Given the description of an element on the screen output the (x, y) to click on. 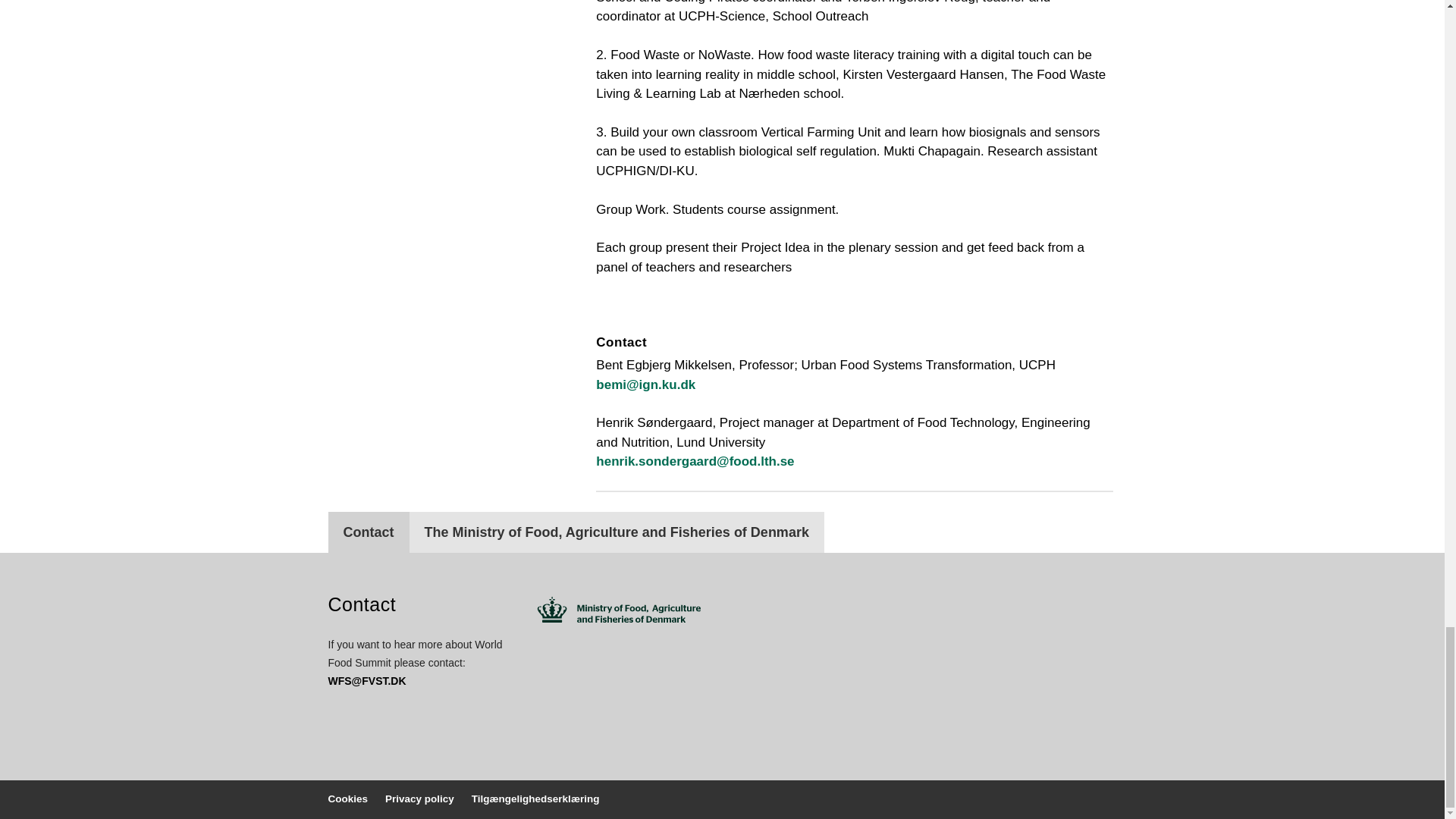
Privacy policy (419, 798)
The Ministry of Food, Agriculture and Fisheries of Denmark (616, 531)
Naviger til fanebladet Contact (368, 531)
Cookies (347, 798)
Contact (368, 531)
